Given the description of an element on the screen output the (x, y) to click on. 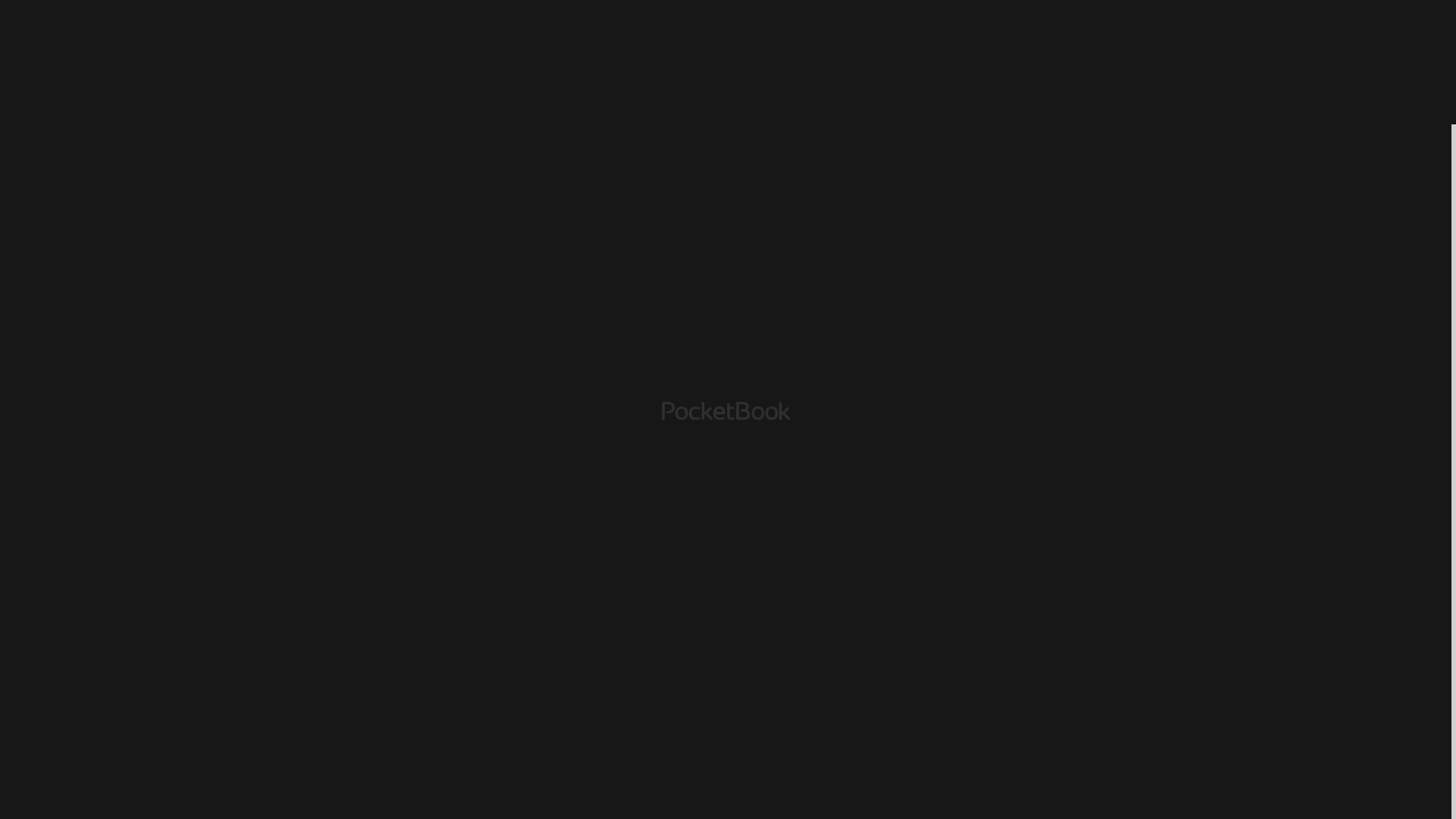
CLOUD Element type: text (1178, 33)
